Given the description of an element on the screen output the (x, y) to click on. 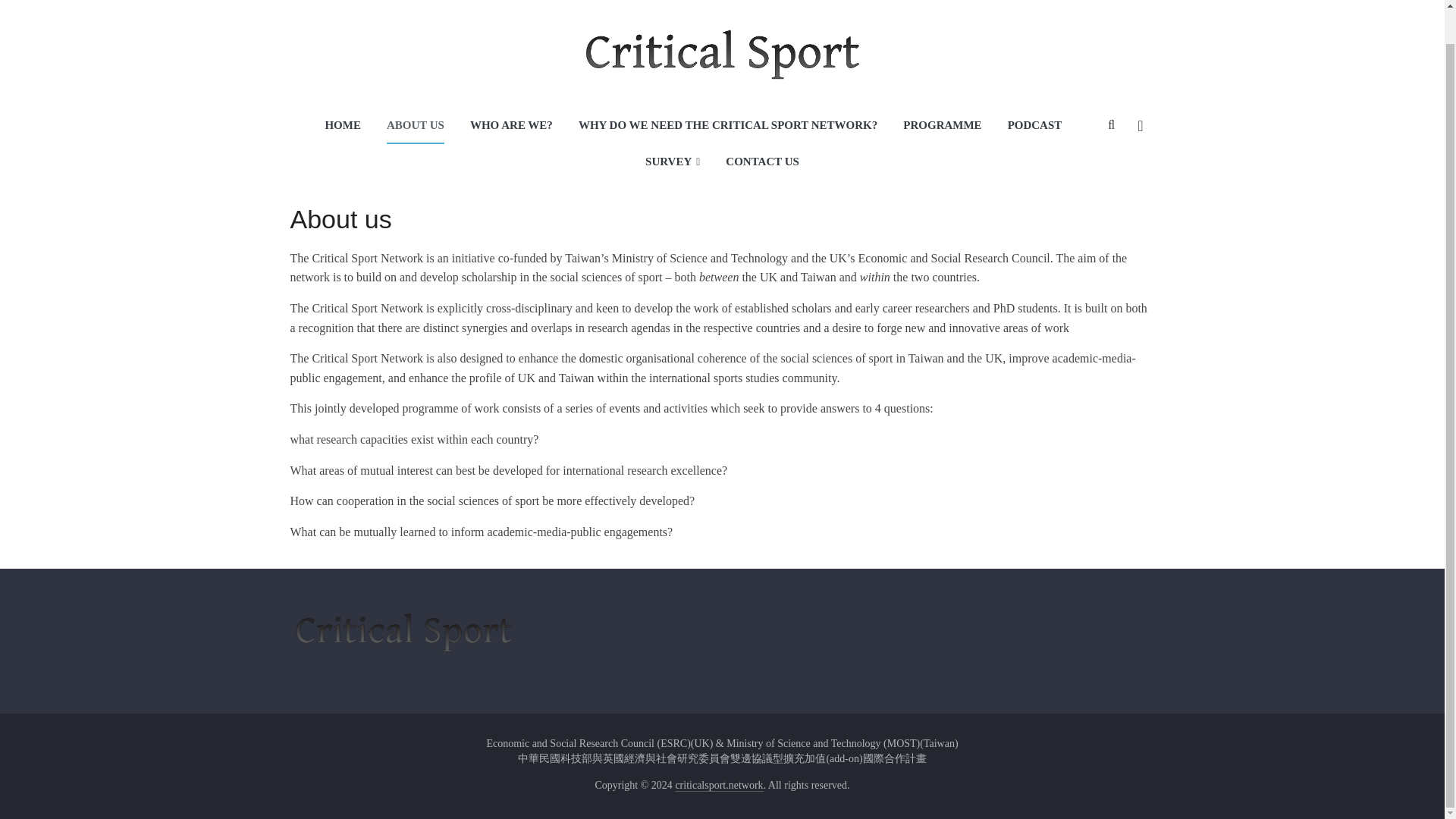
WHO ARE WE? (511, 125)
PODCAST (1034, 125)
PROGRAMME (941, 125)
SURVEY (672, 162)
WHY DO WE NEED THE CRITICAL SPORT NETWORK? (727, 125)
HOME (342, 125)
ABOUT US (415, 125)
CONTACT US (762, 162)
